Given the description of an element on the screen output the (x, y) to click on. 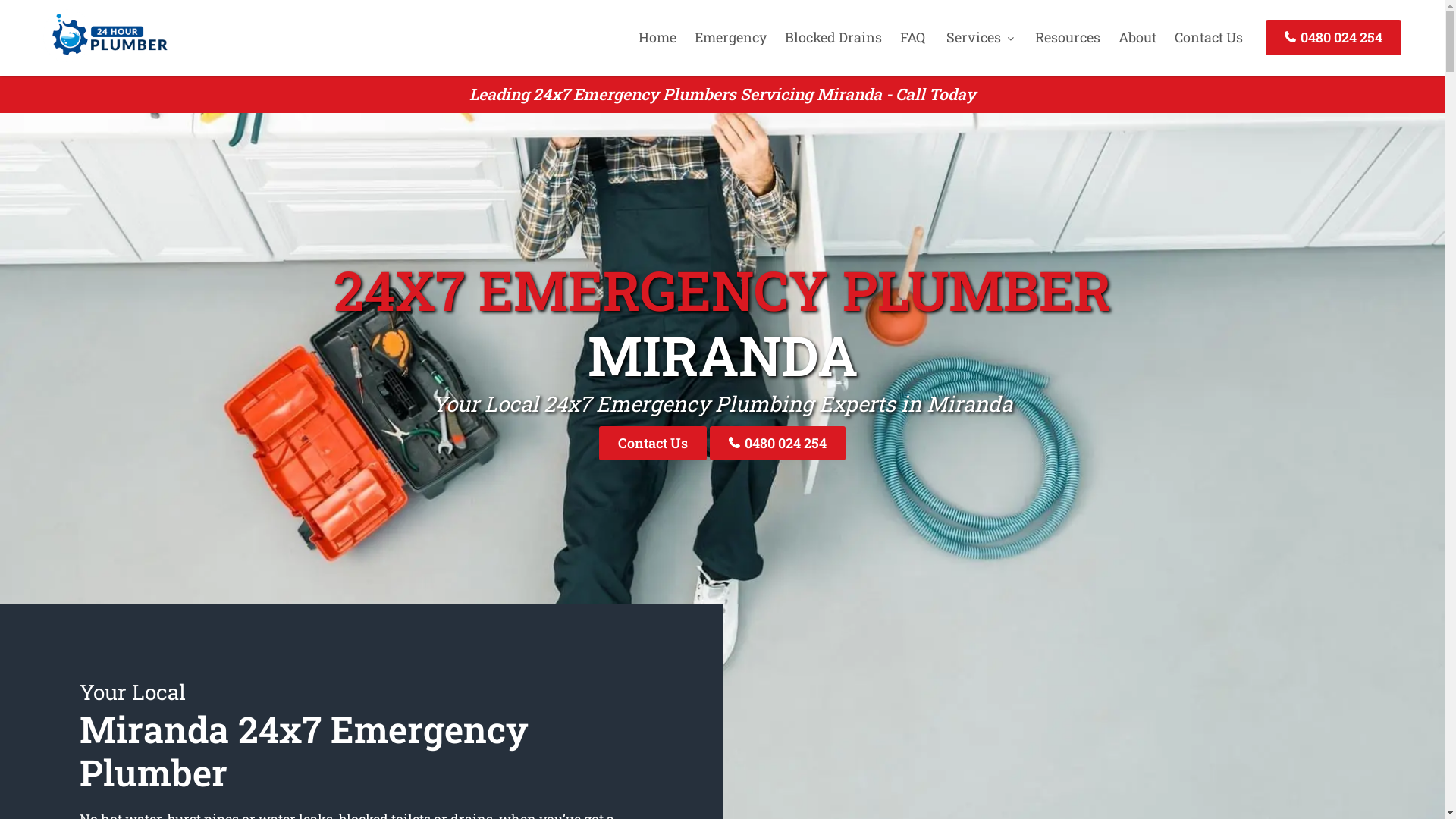
Contact Us Element type: text (1208, 37)
0480 024 254 Element type: text (1333, 37)
Services Element type: text (979, 37)
Contact Us Element type: text (652, 443)
Emergency Element type: text (730, 37)
0480 024 254 Element type: text (777, 443)
Blocked Drains Element type: text (833, 37)
Resources Element type: text (1067, 37)
Home Element type: text (657, 37)
FAQ Element type: text (912, 37)
About Element type: text (1137, 37)
24 Hour Plumber Element type: hover (105, 56)
